Given the description of an element on the screen output the (x, y) to click on. 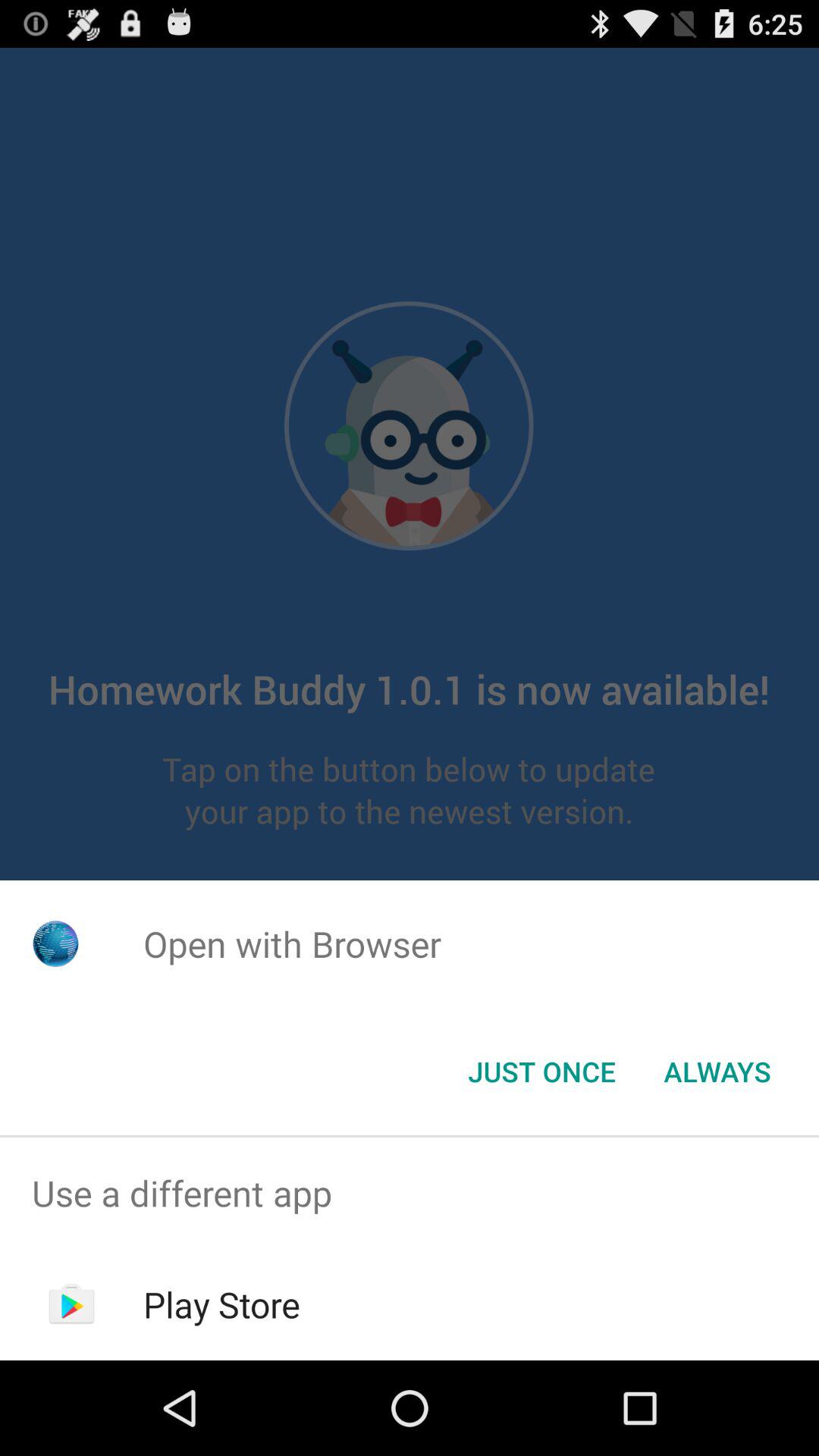
open play store (221, 1304)
